Given the description of an element on the screen output the (x, y) to click on. 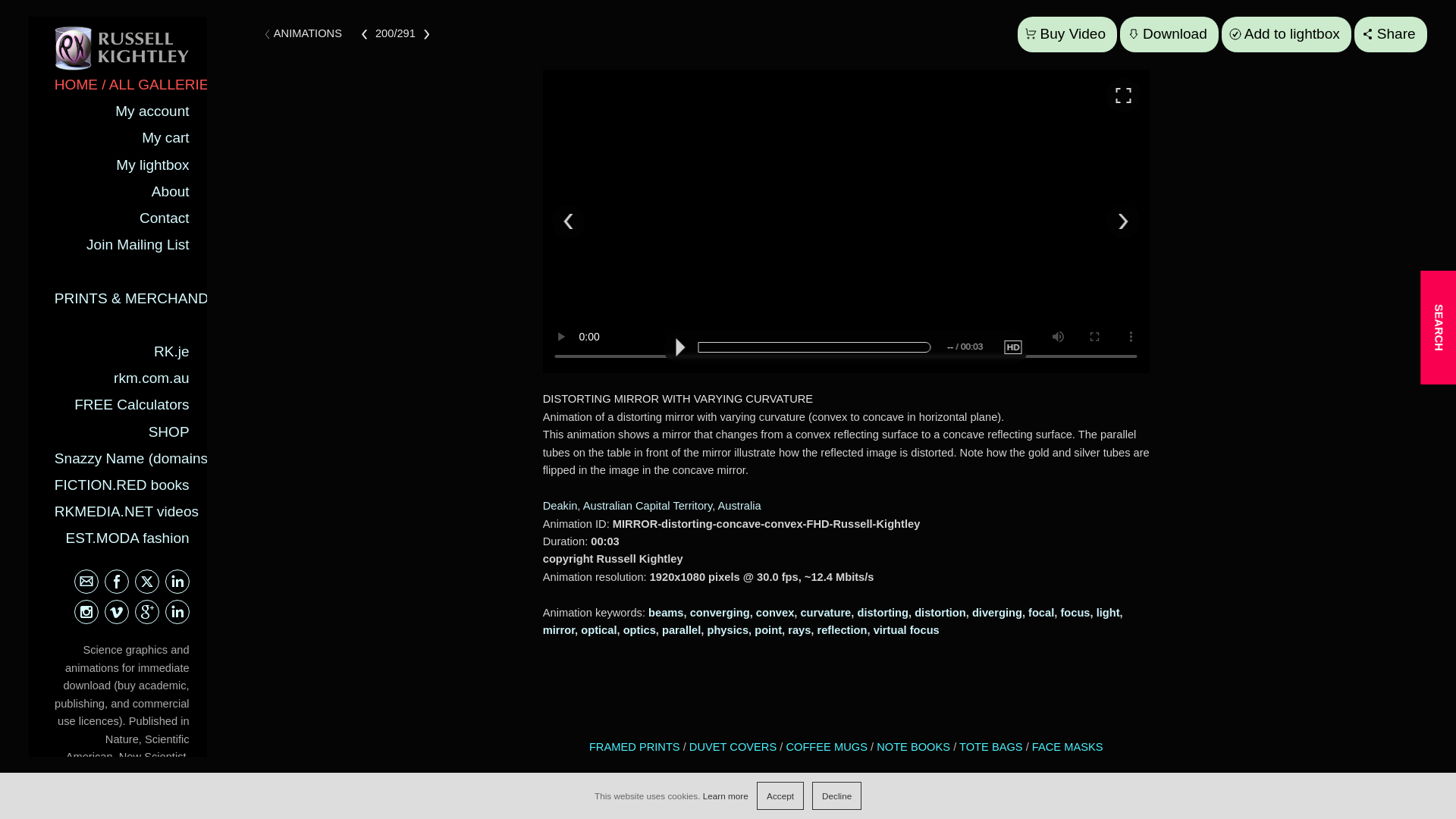
Share (1390, 34)
RK.je (171, 351)
Add to lightbox (1286, 34)
Download (1168, 34)
RKMEDIA.NET videos (126, 511)
Add to lightbox (1286, 34)
Contact (164, 217)
Join Mailing List (137, 244)
Download (1168, 34)
My cart (165, 137)
Buy Video (1066, 34)
SHOP (168, 431)
Share (1390, 34)
ANIMATIONS (307, 33)
HD (1013, 346)
